Given the description of an element on the screen output the (x, y) to click on. 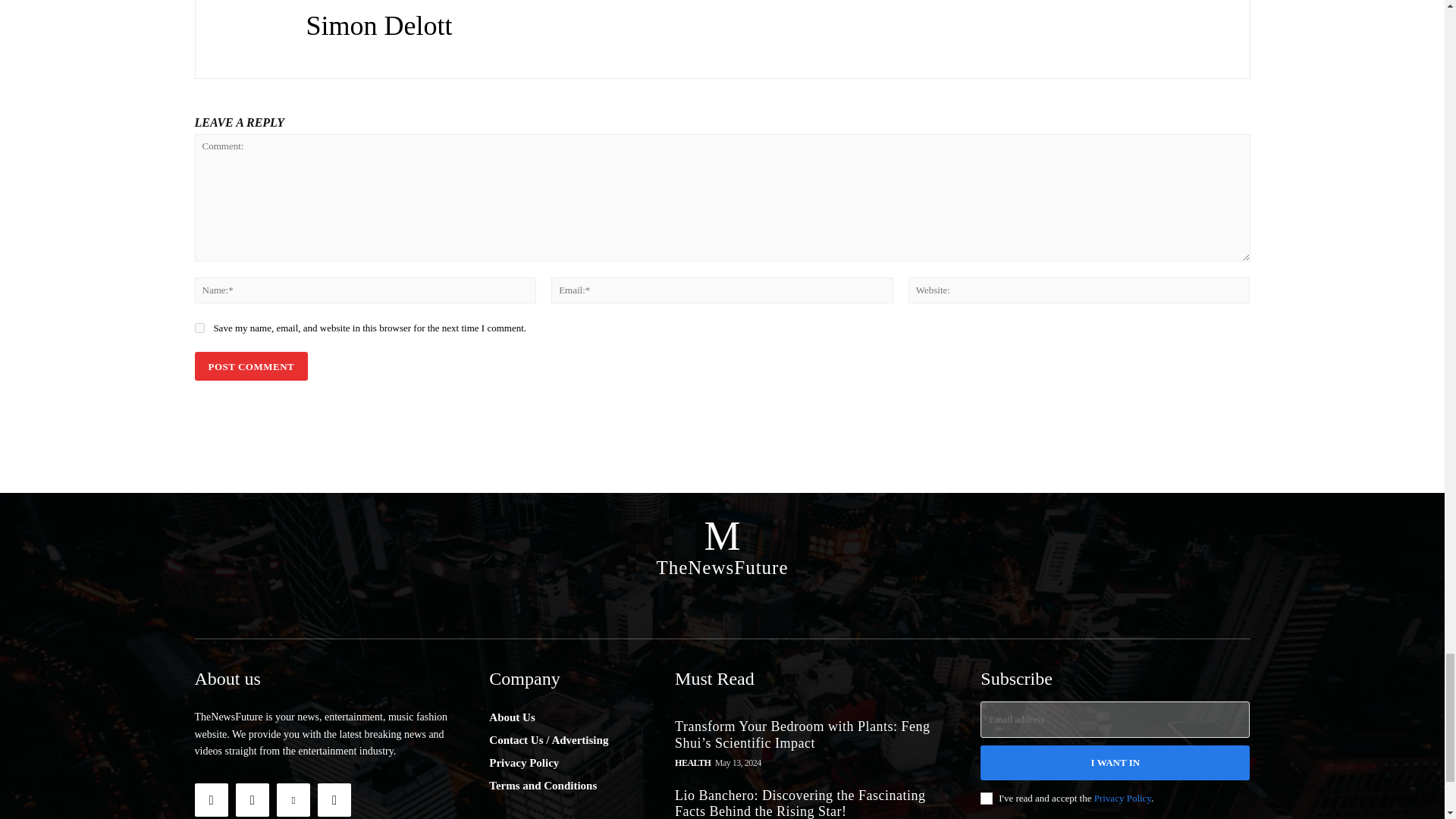
yes (198, 327)
Post Comment (250, 366)
